Given the description of an element on the screen output the (x, y) to click on. 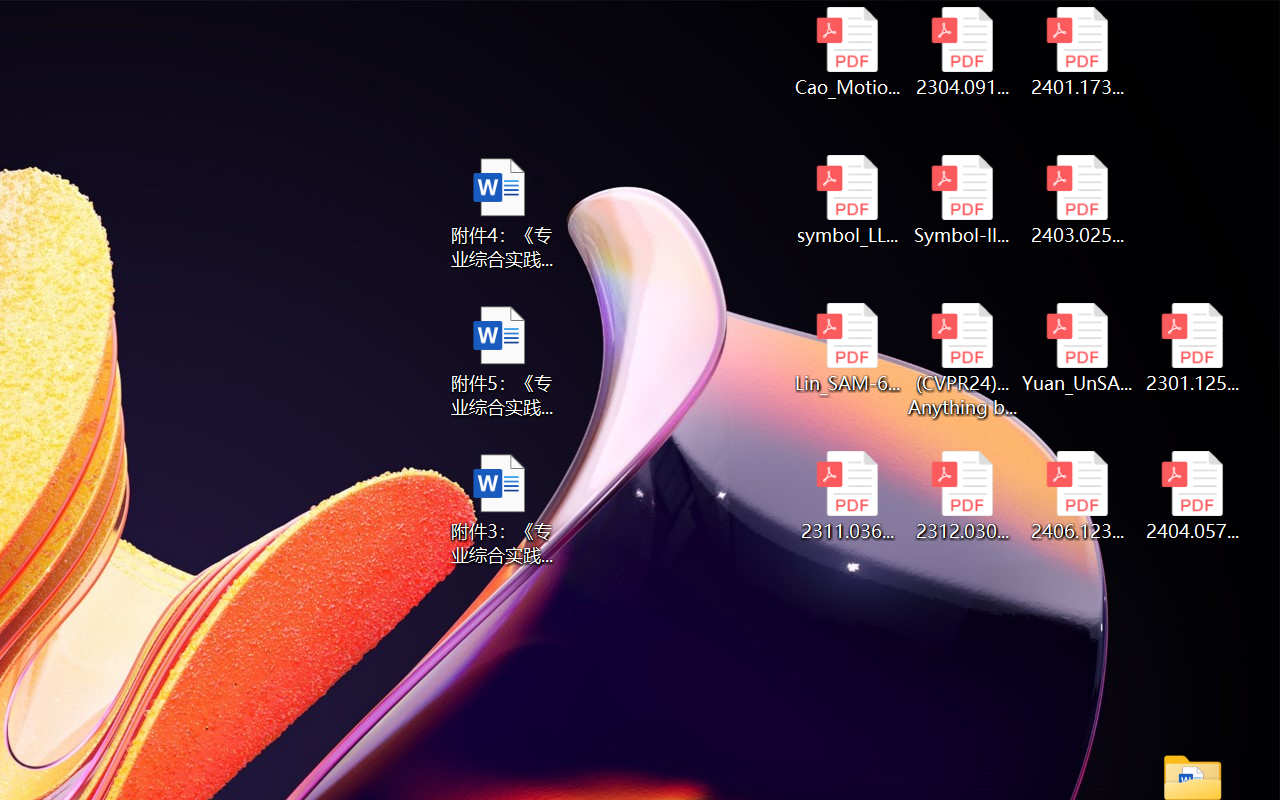
2304.09121v3.pdf (962, 52)
2311.03658v2.pdf (846, 496)
